Given the description of an element on the screen output the (x, y) to click on. 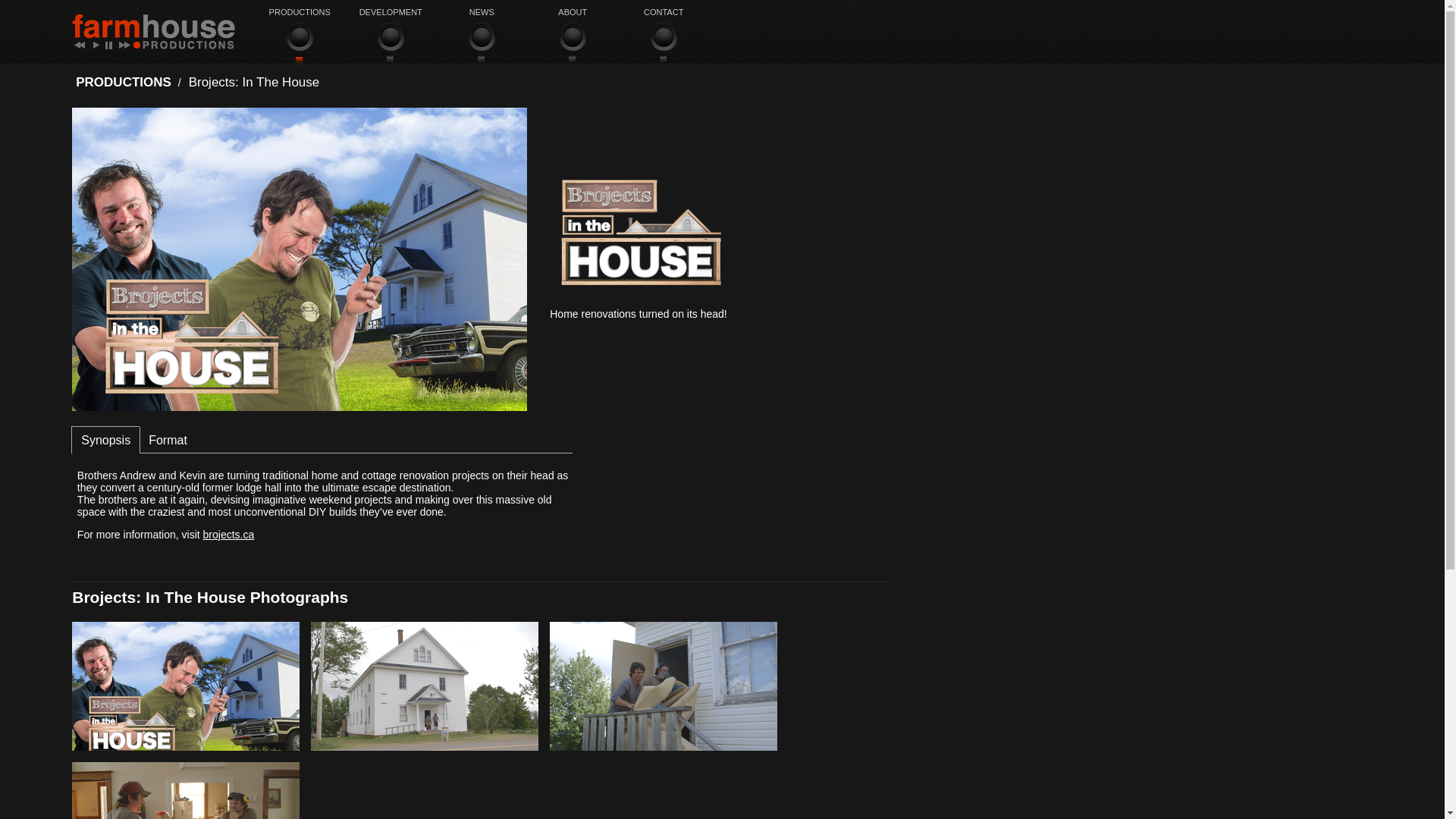
NEWS (481, 43)
brojects.ca (228, 534)
CONTACT (663, 43)
PRODUCTIONS (299, 43)
ABOUT (572, 43)
Brojects: In The House (253, 82)
PRODUCTIONS (122, 82)
DEVELOPMENT (390, 43)
